Given the description of an element on the screen output the (x, y) to click on. 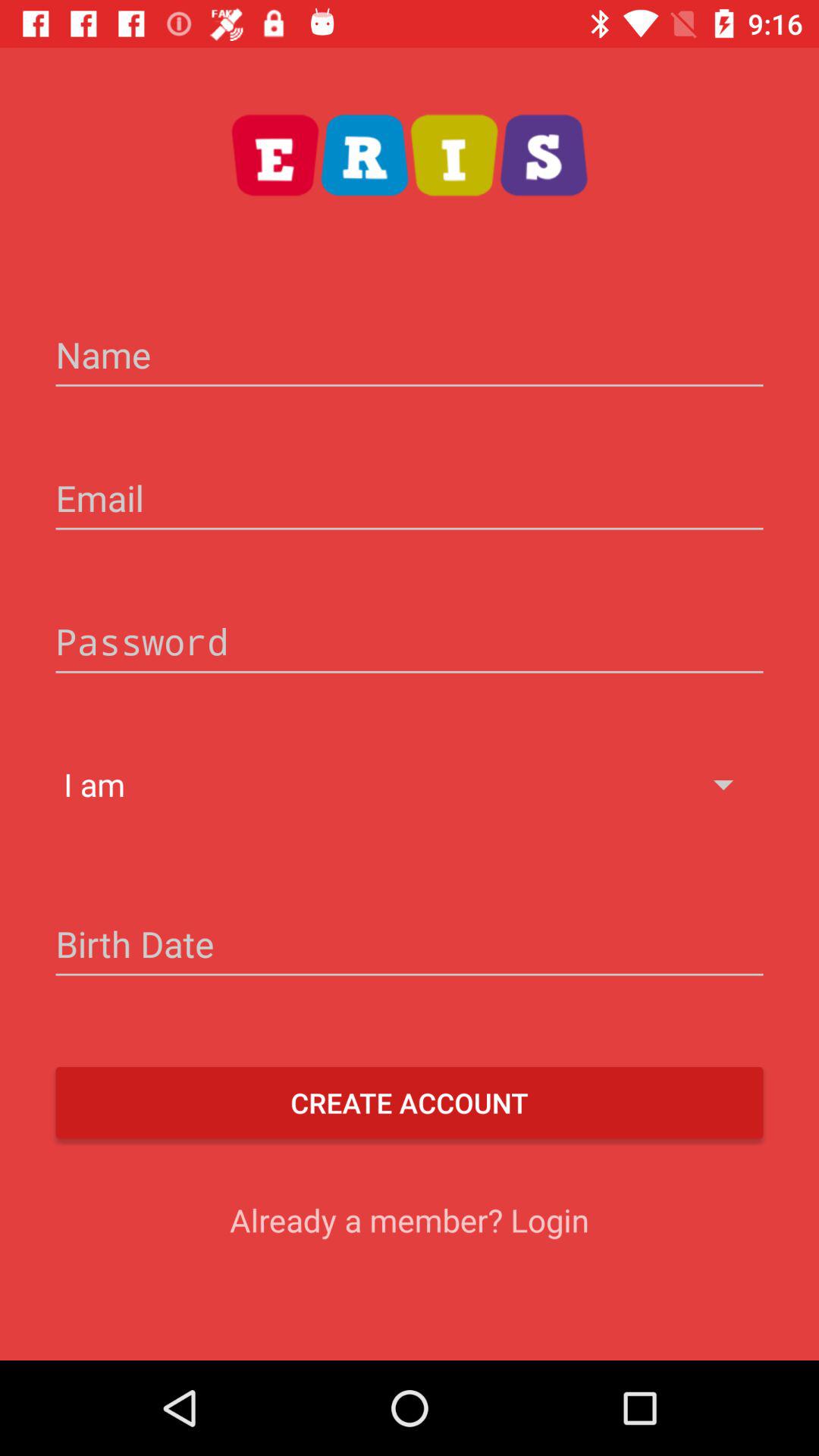
choose icon above the create account (409, 946)
